Given the description of an element on the screen output the (x, y) to click on. 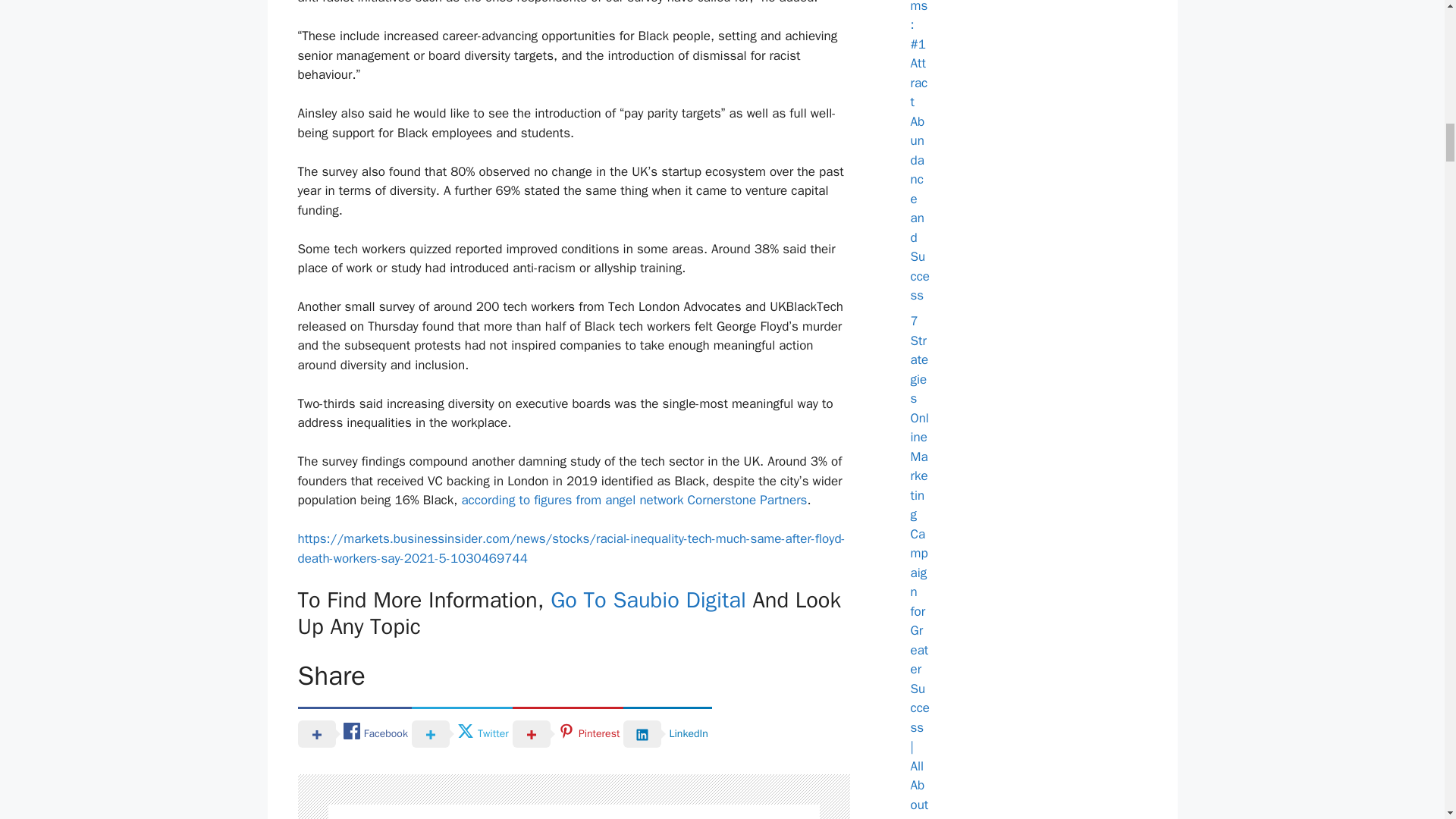
Go To Saubio Digital (647, 600)
Facebook (353, 732)
Pinterest (568, 732)
Twitter (462, 732)
according to figures from angel network Cornerstone Partners (633, 499)
